Given the description of an element on the screen output the (x, y) to click on. 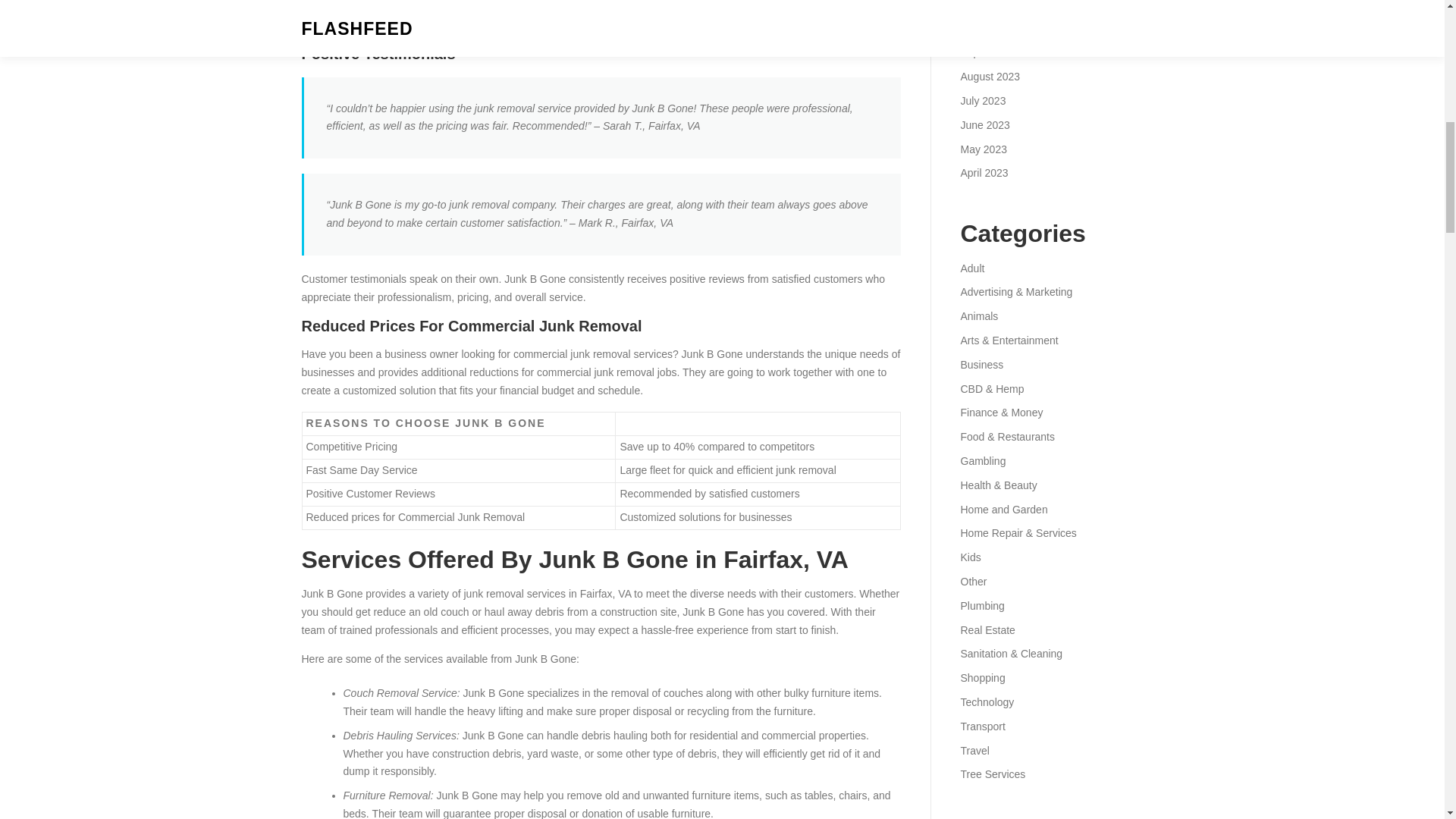
Animals (978, 316)
May 2023 (982, 149)
October 2023 (992, 28)
April 2023 (983, 173)
August 2023 (989, 76)
June 2023 (984, 124)
November 2023 (997, 5)
September 2023 (999, 51)
Business (981, 364)
July 2023 (982, 101)
